Given the description of an element on the screen output the (x, y) to click on. 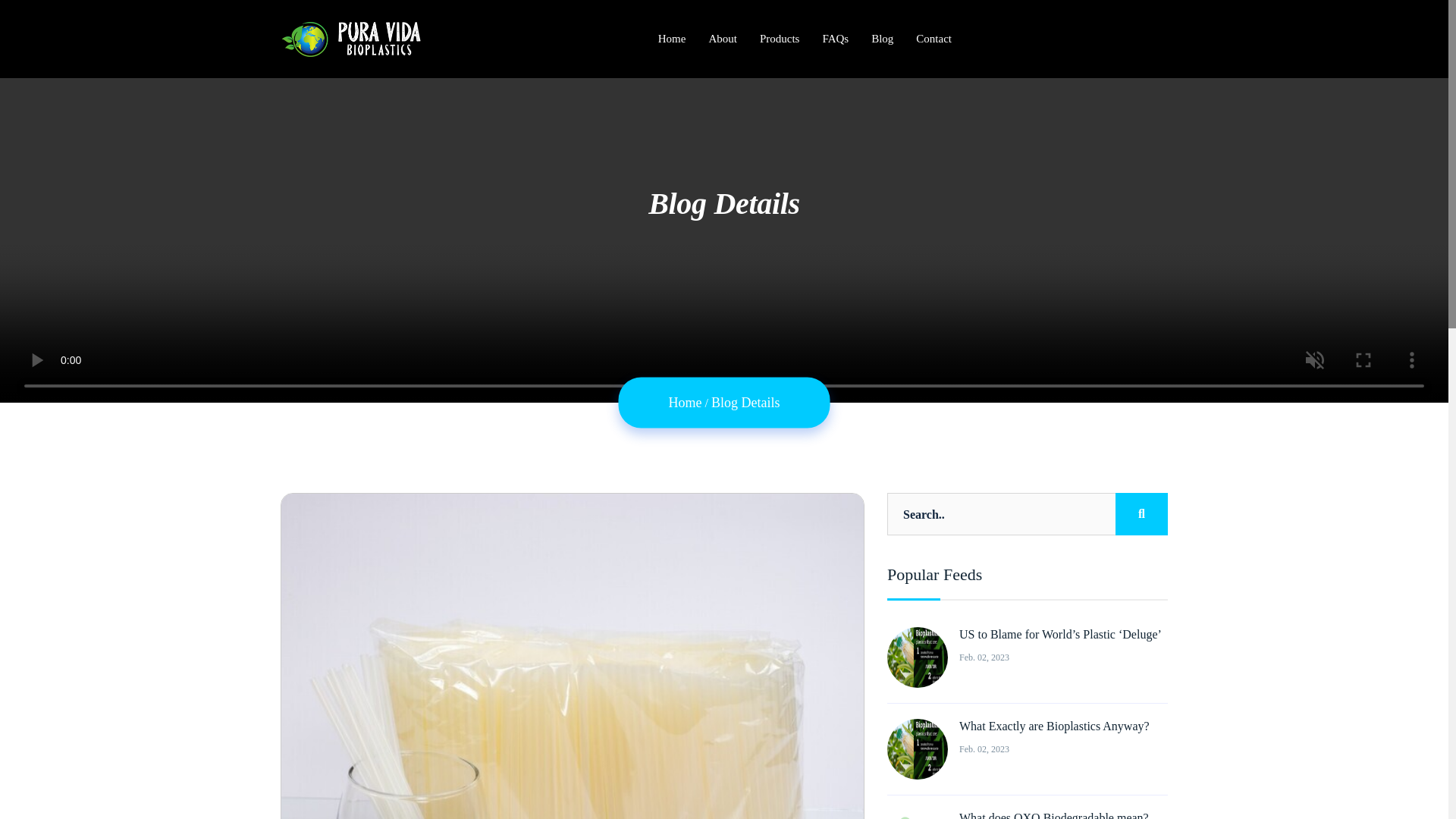
What Exactly are Bioplastics Anyway? (1054, 725)
Home (684, 401)
What does OXO Biodegradable mean? (1053, 815)
